Given the description of an element on the screen output the (x, y) to click on. 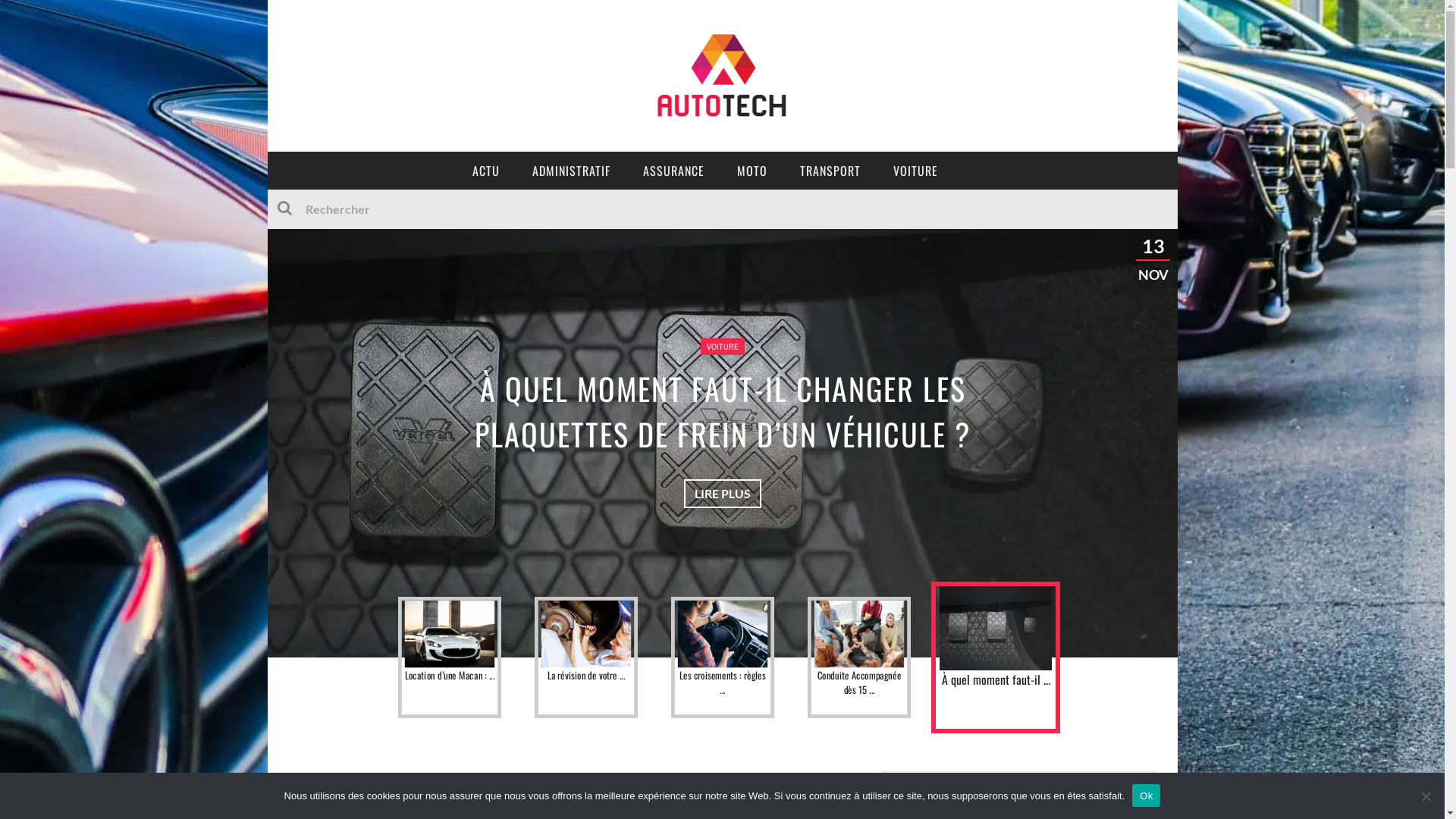
ADMINISTRATIF Element type: text (571, 170)
No Element type: hover (1425, 795)
TRANSPORT Element type: text (829, 170)
LIRE PLUS Element type: text (722, 493)
ASSURANCE Element type: text (673, 170)
VOITURE Element type: text (915, 170)
ACTU Element type: text (485, 170)
MOTO Element type: text (751, 170)
Ok Element type: text (1146, 795)
VOITURE Element type: text (722, 346)
